Given the description of an element on the screen output the (x, y) to click on. 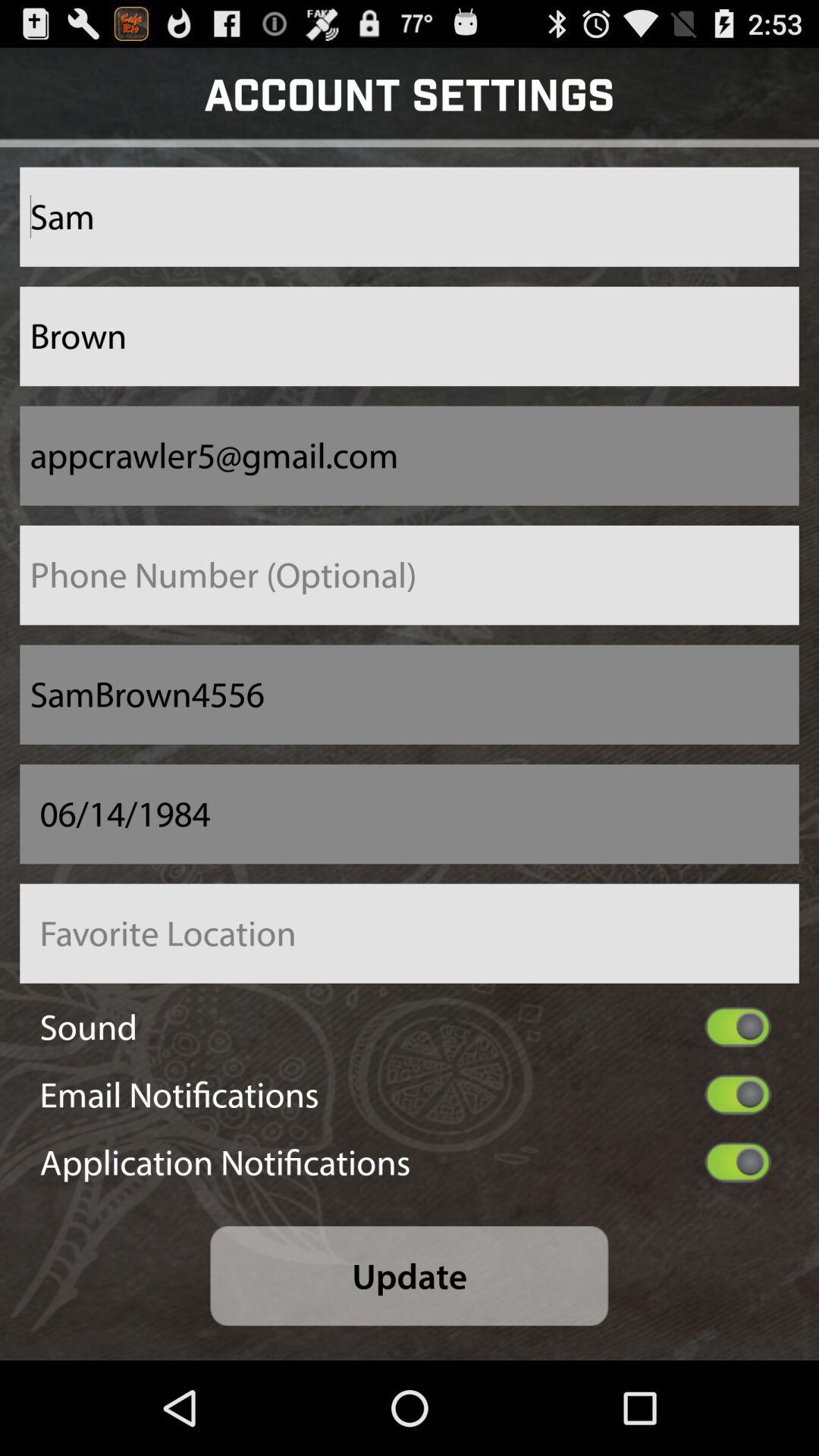
toggle sound (737, 1027)
